Given the description of an element on the screen output the (x, y) to click on. 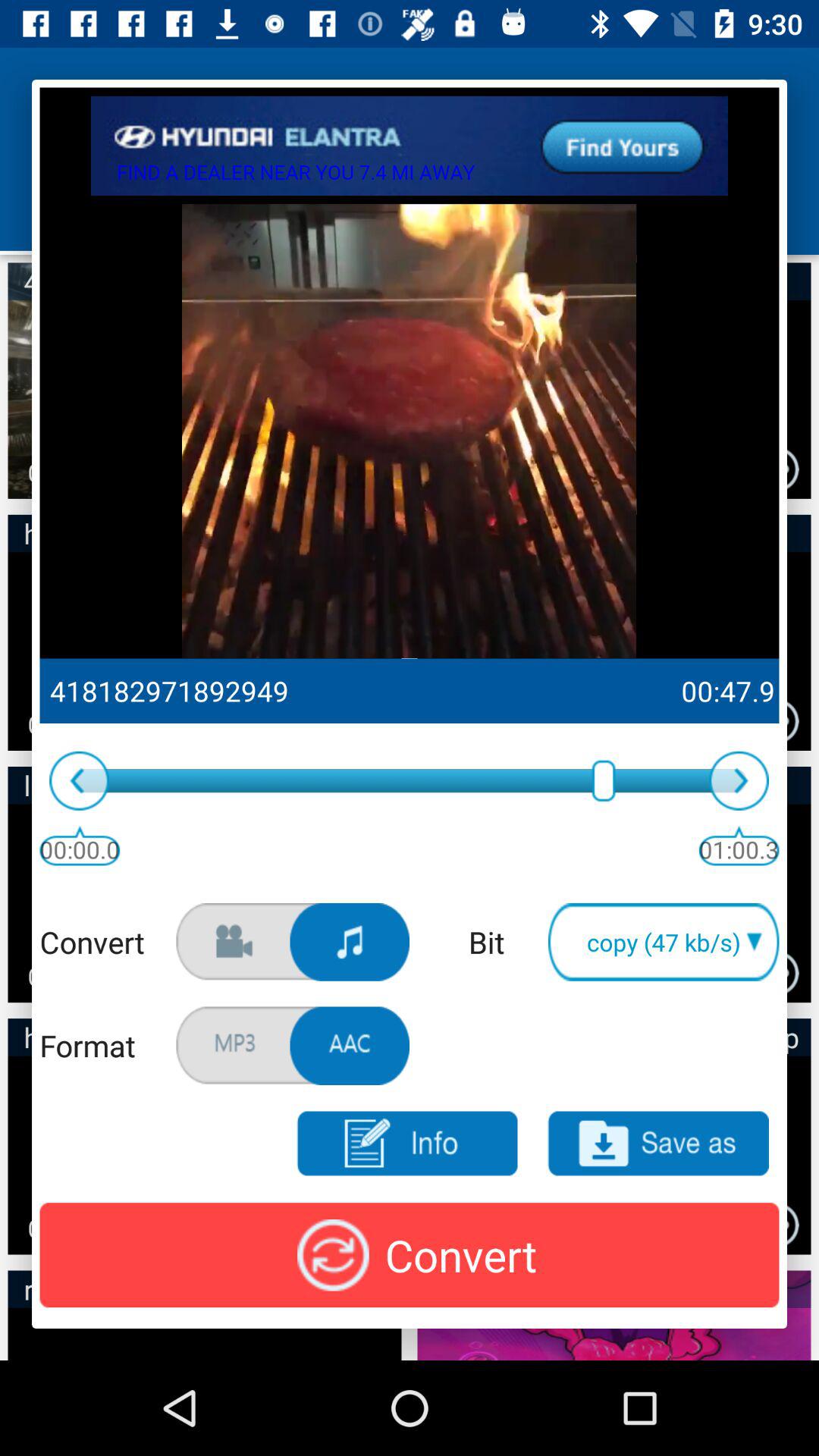
show info (406, 1143)
